Given the description of an element on the screen output the (x, y) to click on. 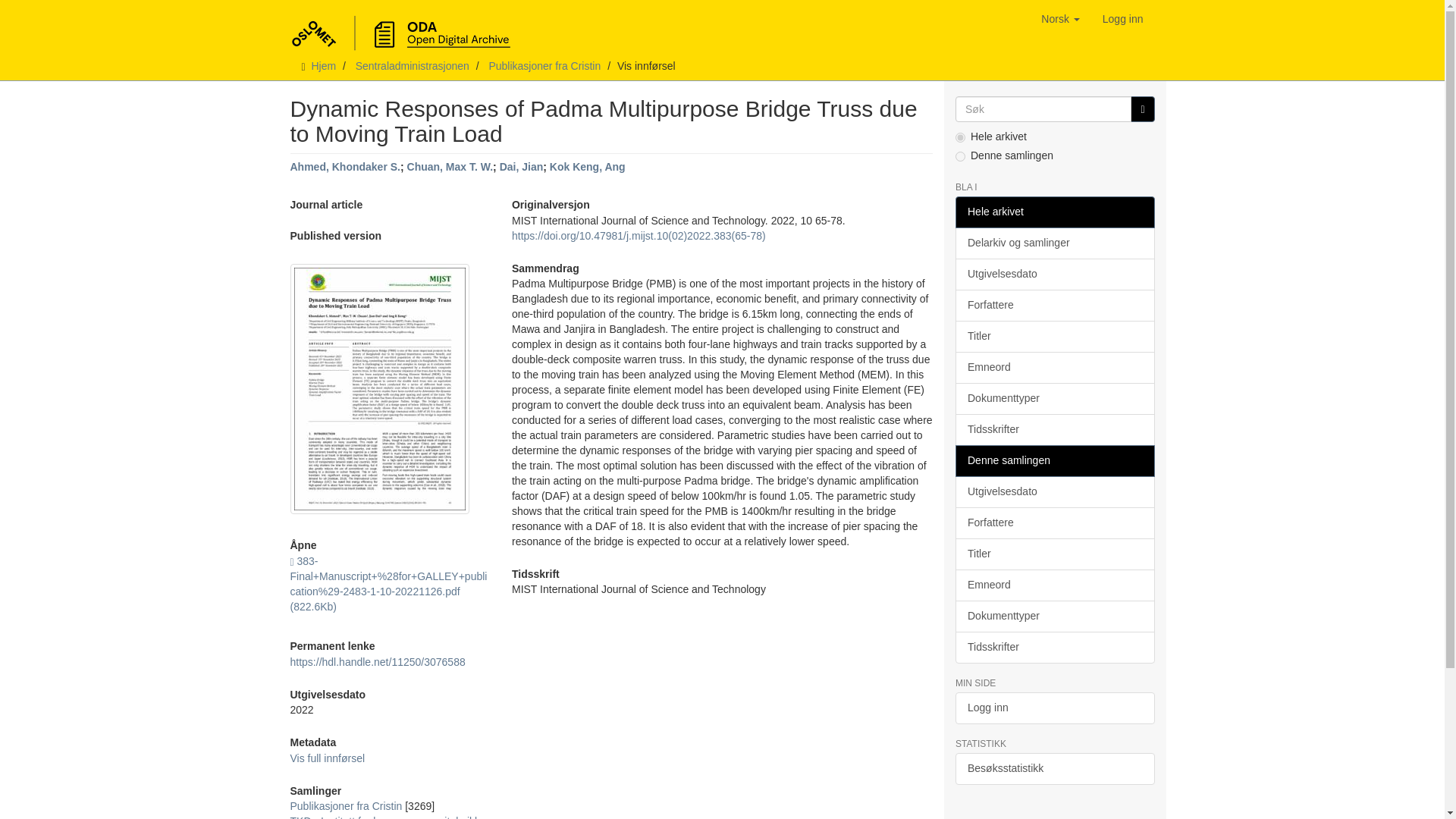
TKD - Institutt for bygg- og energiteknikk (384, 816)
Norsk  (1059, 18)
Hjem (323, 65)
Hele arkivet (1054, 212)
Delarkiv og samlinger (1054, 243)
Publikasjoner fra Cristin (543, 65)
Kok Keng, Ang (588, 166)
Chuan, Max T. W. (450, 166)
Logg inn (1122, 18)
Ahmed, Khondaker S. (343, 166)
Dai, Jian (521, 166)
Publikasjoner fra Cristin (345, 806)
Sentraladministrasjonen (411, 65)
